Given the description of an element on the screen output the (x, y) to click on. 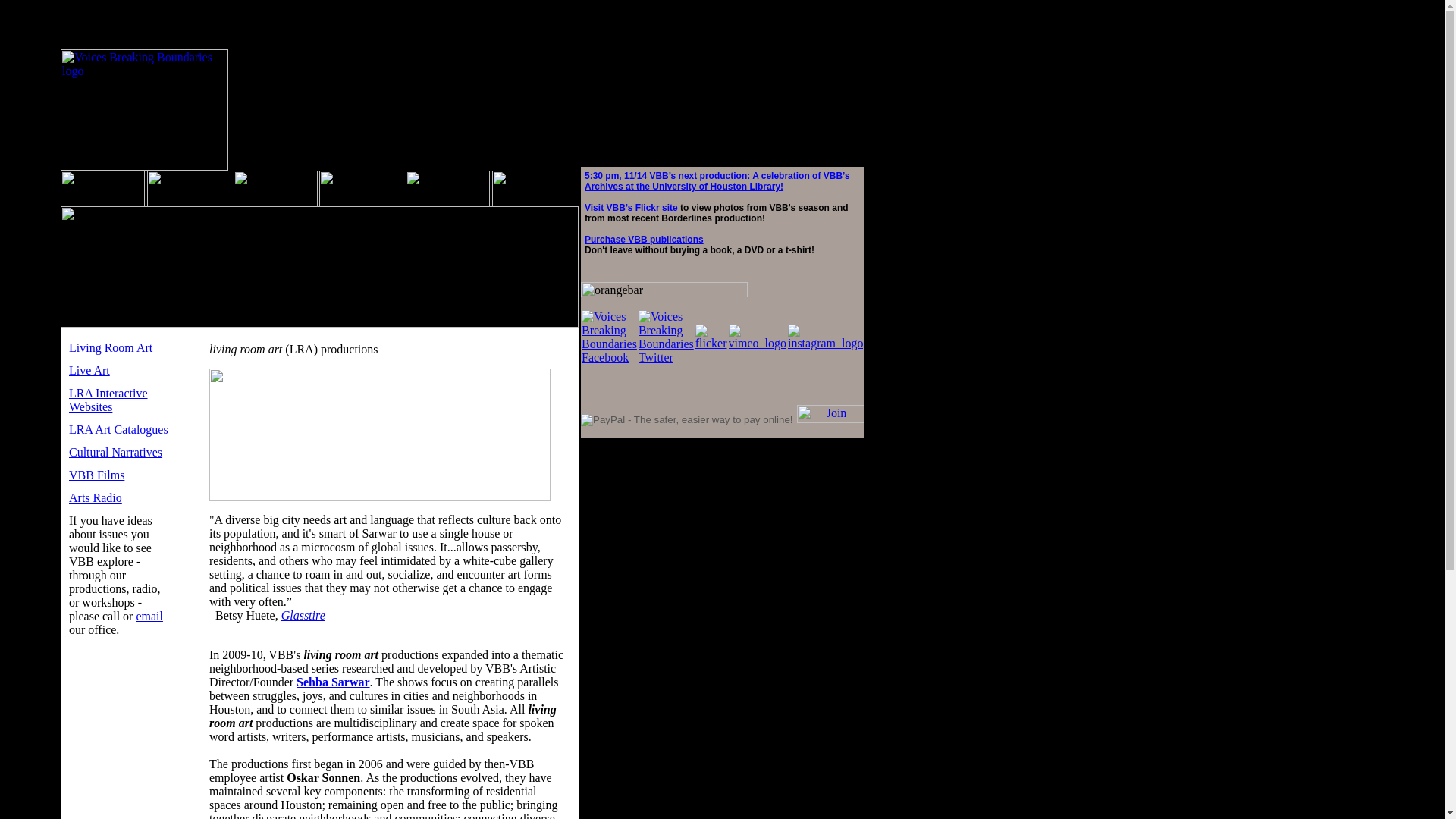
Purchase VBB publications (644, 239)
Living Room Art (110, 347)
LRA Interactive Websites (108, 399)
Live Art (89, 369)
